Given the description of an element on the screen output the (x, y) to click on. 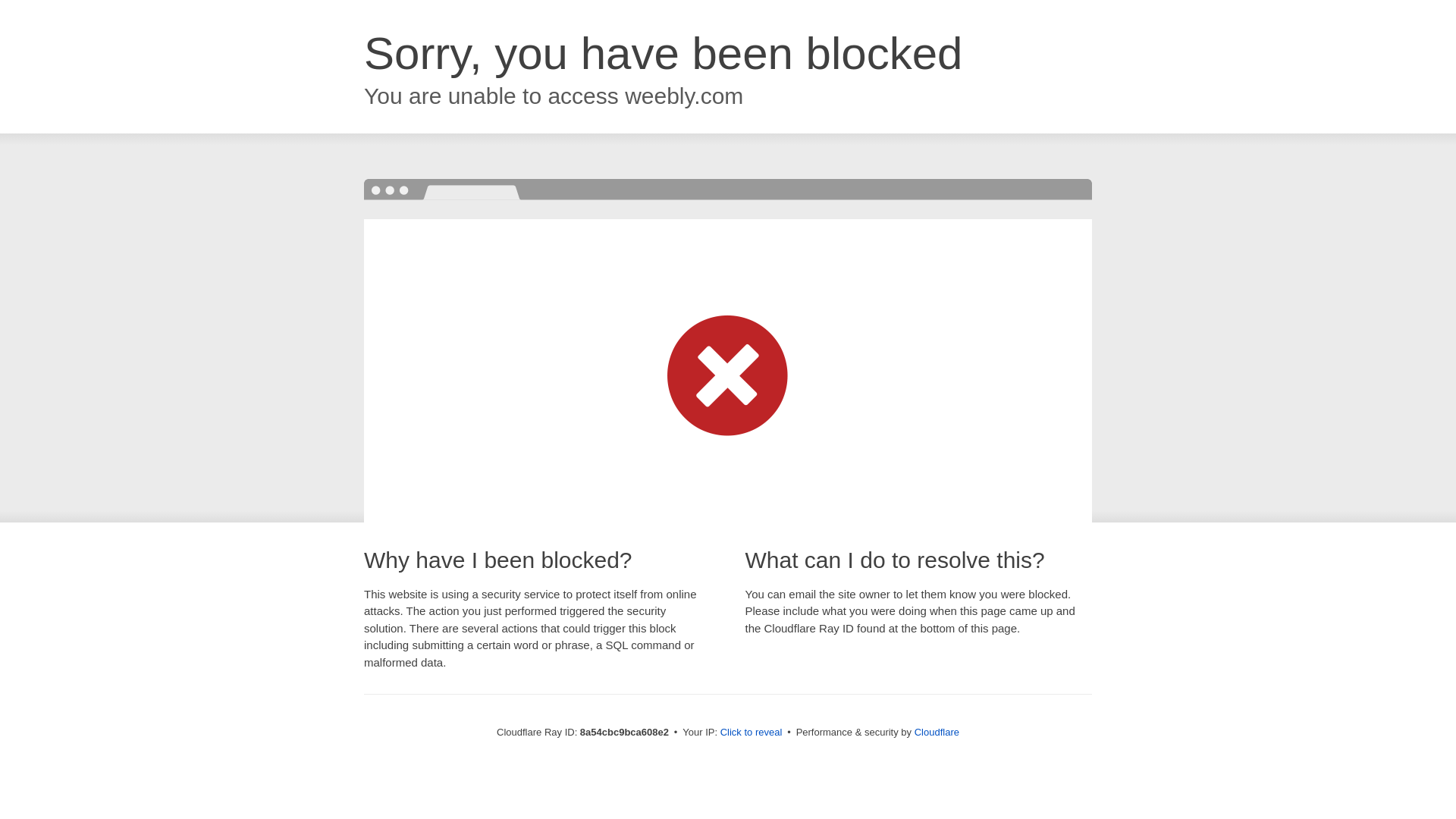
Click to reveal (751, 732)
Cloudflare (936, 731)
